Given the description of an element on the screen output the (x, y) to click on. 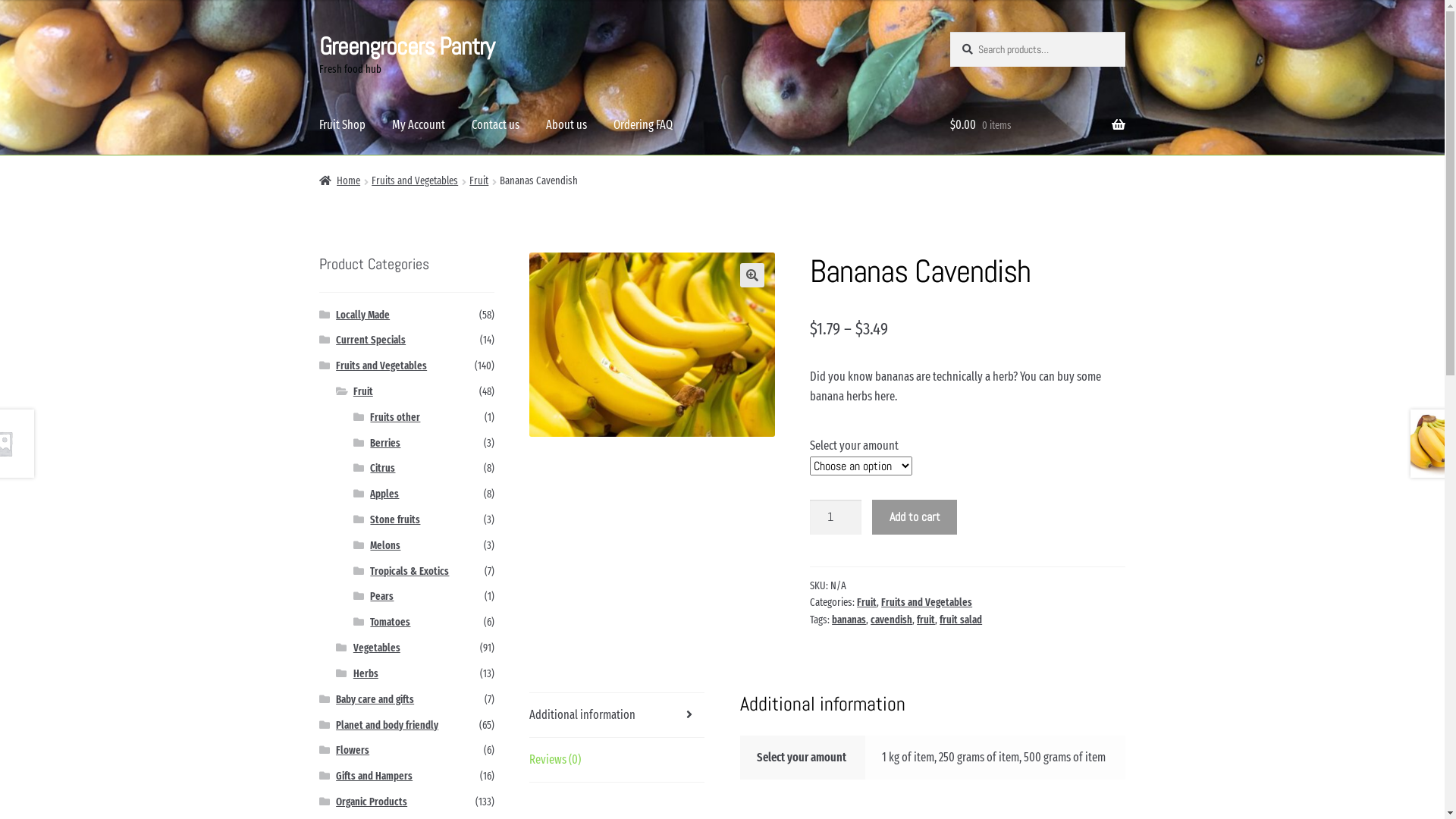
Additional information Element type: text (616, 715)
Gifts and Hampers Element type: text (373, 775)
Fruit Shop Element type: text (342, 124)
Contact us Element type: text (495, 124)
Fruit Element type: text (866, 602)
Greengrocers Pantry Element type: text (406, 46)
Reviews (0) Element type: text (616, 759)
$0.00 0 items Element type: text (1037, 124)
fruit salad Element type: text (960, 619)
Organic Products Element type: text (371, 801)
Skip to navigation Element type: text (318, 31)
Baby care and gifts Element type: text (374, 699)
Melons Element type: text (385, 545)
cavendish Element type: text (891, 619)
Vegetables Element type: text (376, 647)
Tropicals & Exotics Element type: text (409, 570)
My Account Element type: text (418, 124)
Current Specials Element type: text (370, 339)
Locally Made Element type: text (362, 314)
Add to cart Element type: text (914, 516)
Planet and body friendly Element type: text (386, 724)
Fruit Element type: text (478, 180)
Tomatoes Element type: text (390, 621)
Apples Element type: text (384, 493)
Fruits other Element type: text (395, 417)
About us Element type: text (566, 124)
Fruits and Vegetables Element type: text (414, 180)
Ordering FAQ Element type: text (642, 124)
Pears Element type: text (381, 595)
Citrus Element type: text (382, 467)
Home Element type: text (339, 180)
fruit Element type: text (925, 619)
Stone fruits Element type: text (395, 519)
bananans Element type: hover (652, 344)
Flowers Element type: text (352, 749)
Fruits and Vegetables Element type: text (926, 602)
Herbs Element type: text (365, 673)
bananas Element type: text (848, 619)
Fruits and Vegetables Element type: text (380, 365)
Fruit Element type: text (363, 391)
Search Element type: text (949, 31)
Berries Element type: text (385, 442)
